Given the description of an element on the screen output the (x, y) to click on. 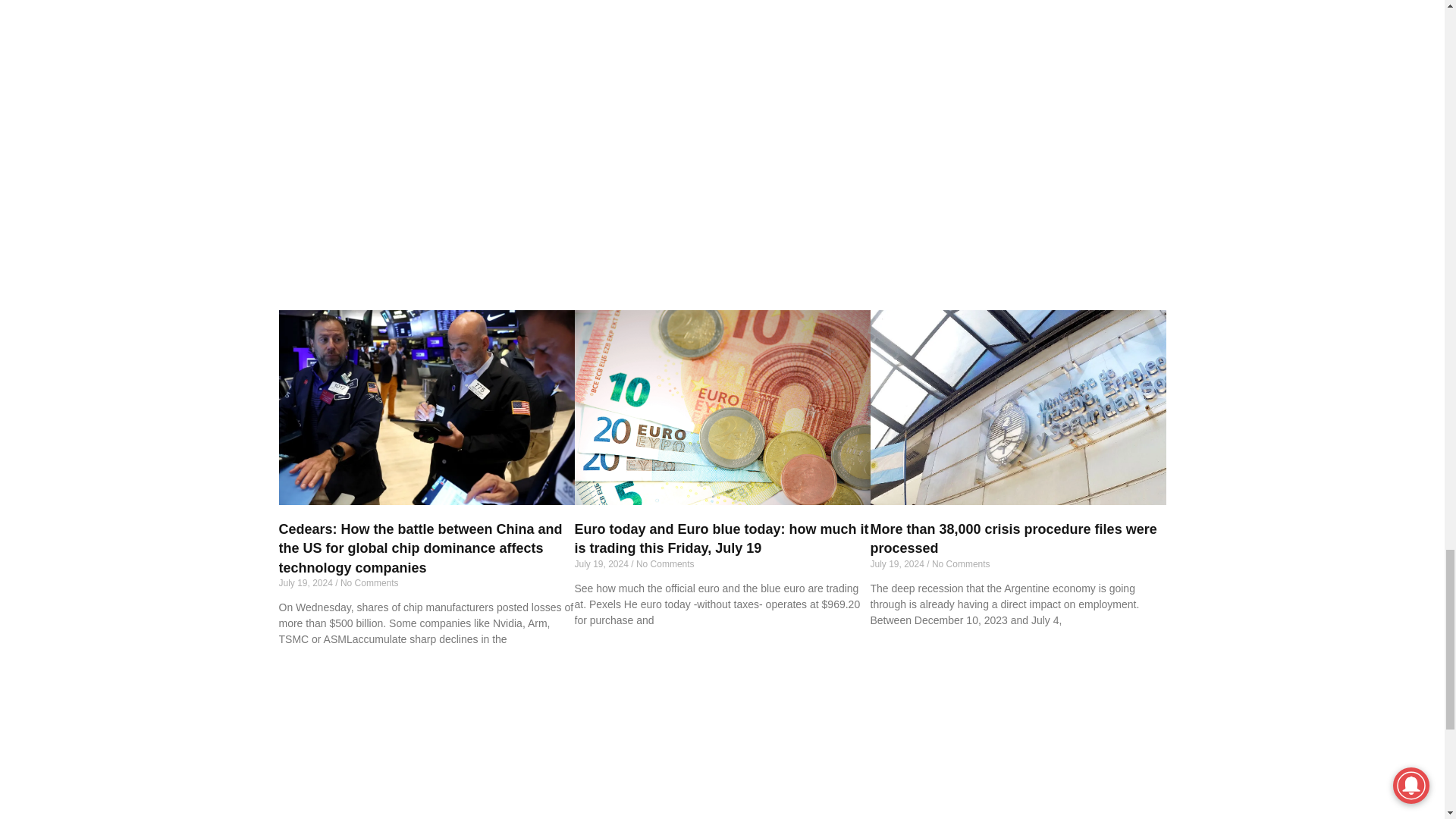
More than 38,000 crisis procedure files were processed (1015, 405)
